Given the description of an element on the screen output the (x, y) to click on. 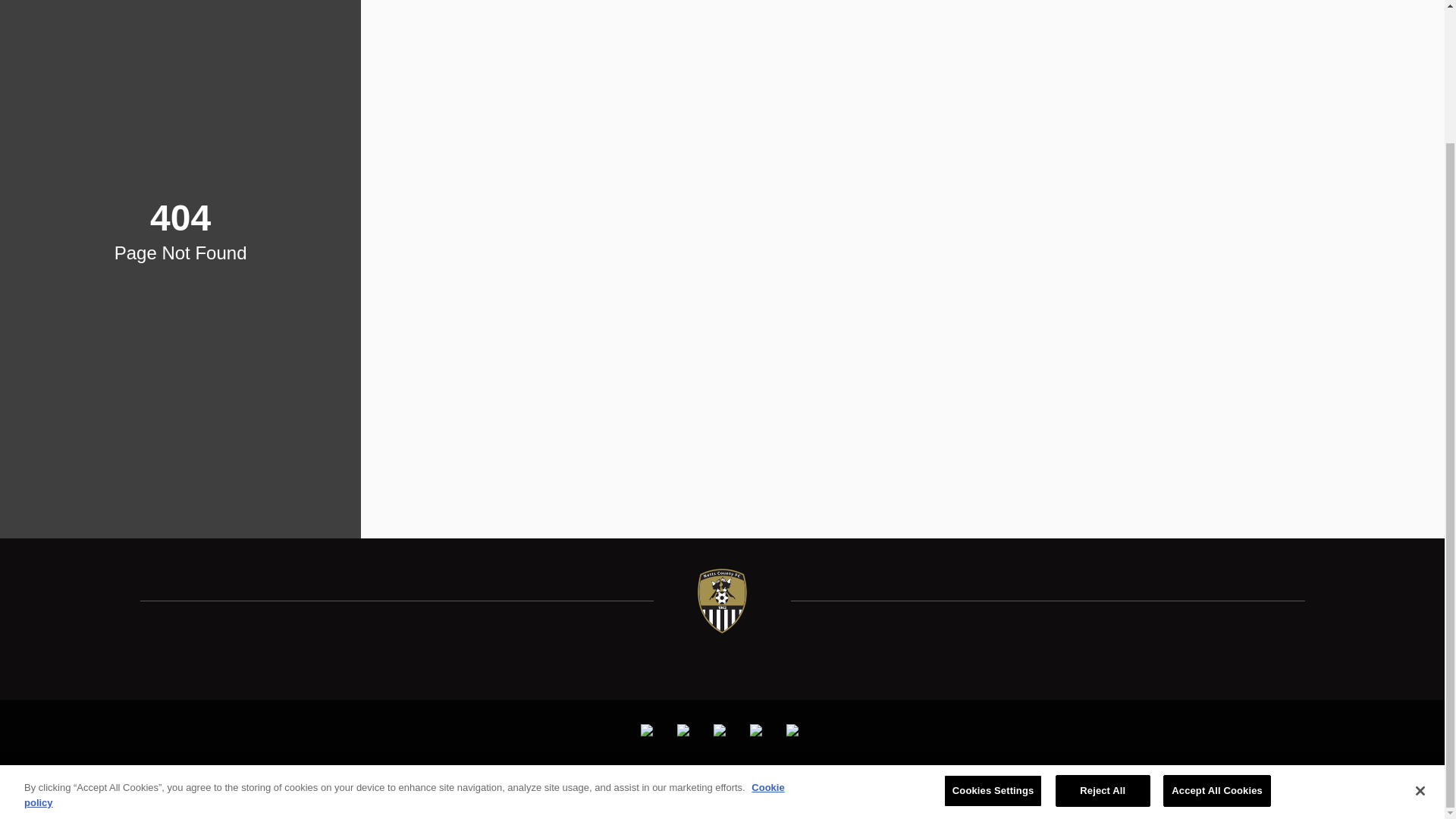
Policies (764, 779)
Cookies policy (701, 779)
Privacy (529, 779)
nottscountyfootballclub (649, 729)
Company details (832, 779)
Accept All Cookies (1217, 628)
Contact us (906, 779)
Reject All (1102, 628)
Privacy (529, 779)
Company details  (832, 779)
